Given the description of an element on the screen output the (x, y) to click on. 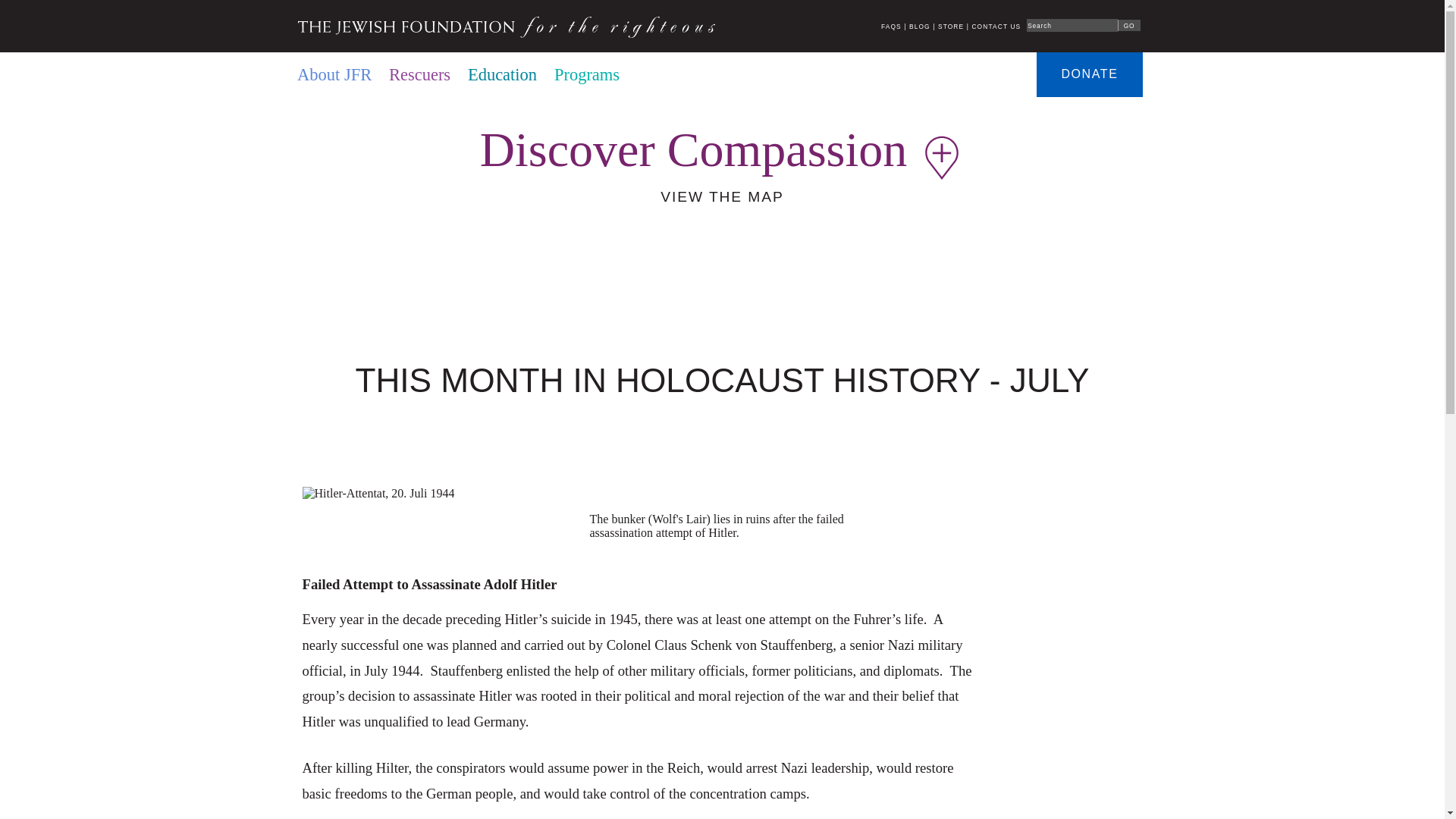
GO (1129, 25)
Education (501, 74)
About JFR (333, 74)
Documentaries (687, 74)
Programs (587, 74)
The Jewish Foundation for the Righteous (505, 26)
Hitler-Attentat, 20. Juli 1944 (377, 493)
CONTACT US (995, 26)
Rescuers (419, 74)
Search (1072, 24)
BLOG (919, 26)
Search (1072, 24)
STORE (950, 26)
GO (1129, 25)
Rescuers Program (419, 74)
